Given the description of an element on the screen output the (x, y) to click on. 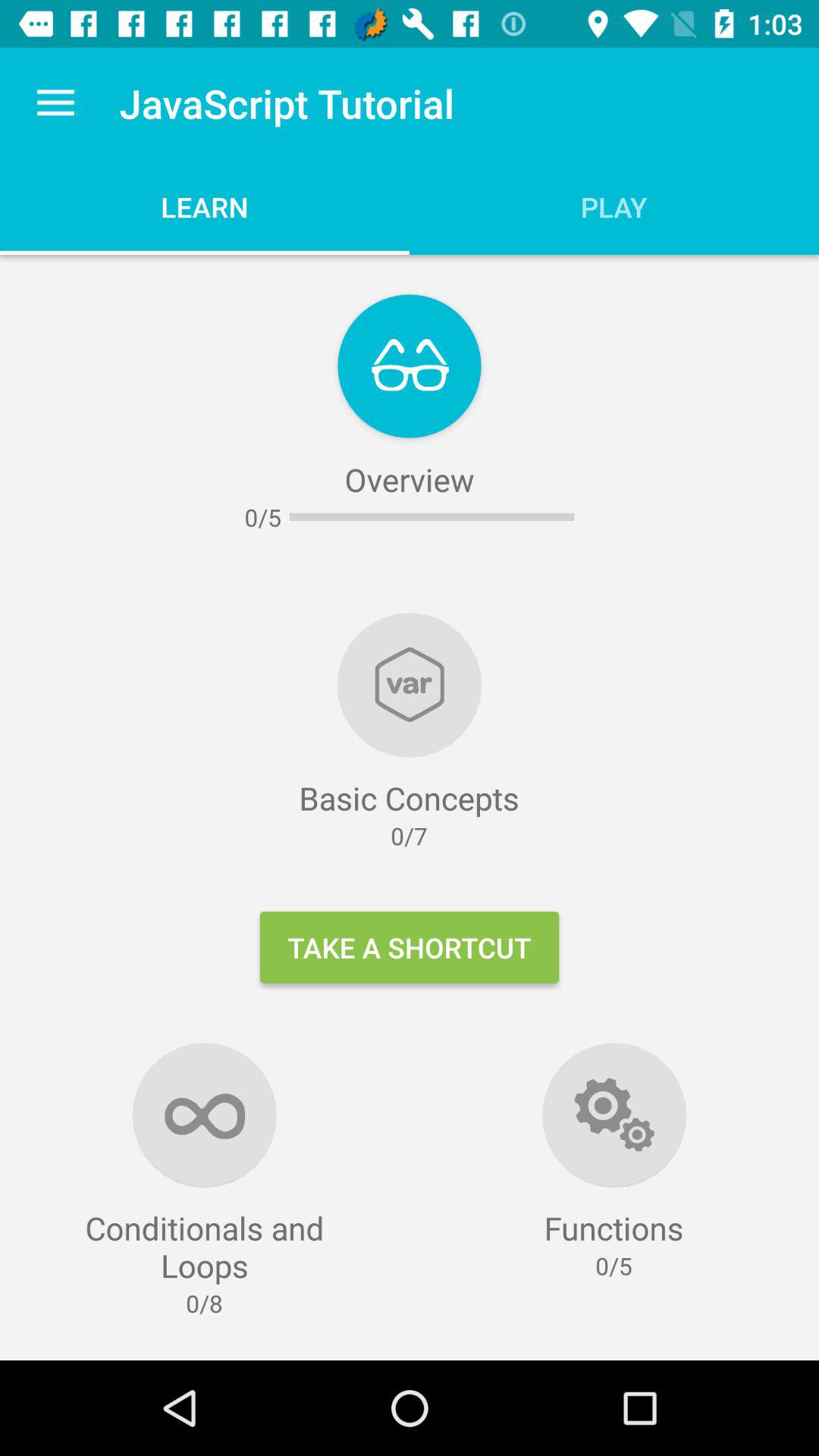
jump until take a shortcut item (409, 947)
